Given the description of an element on the screen output the (x, y) to click on. 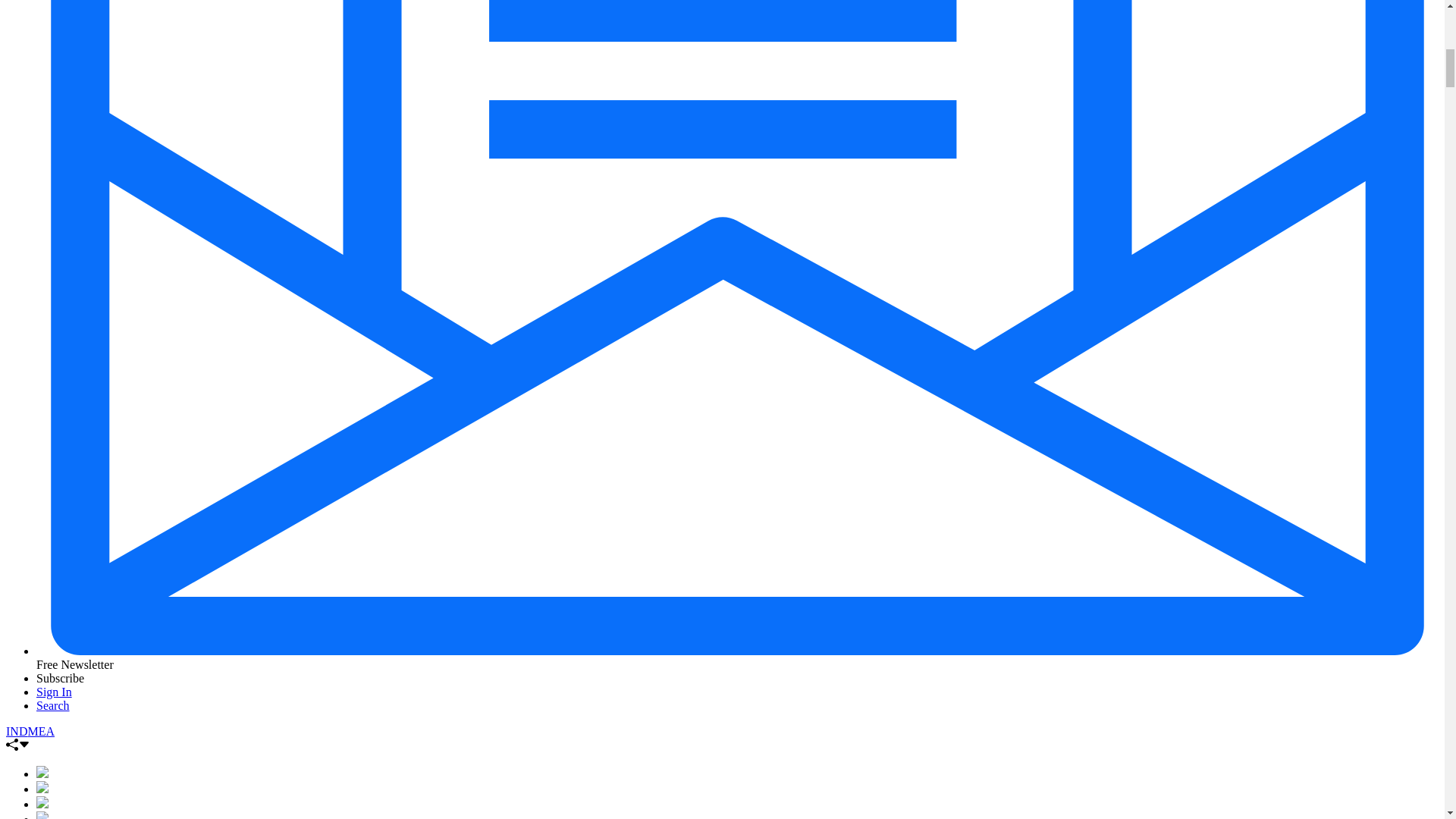
Sign In (53, 691)
Subscribe (60, 677)
MEA (41, 730)
IND (16, 730)
Search (52, 705)
